Given the description of an element on the screen output the (x, y) to click on. 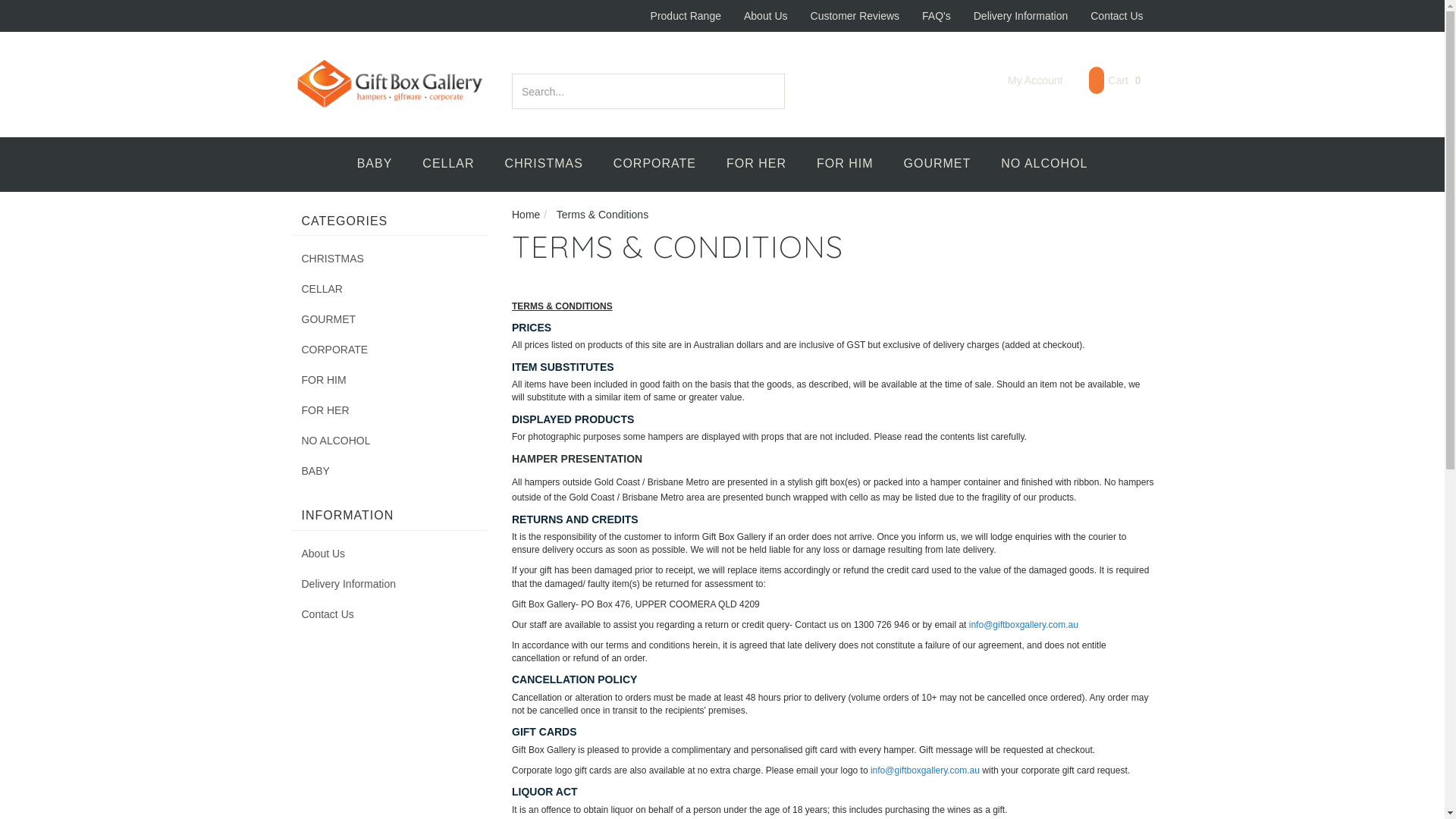
Product Range Element type: text (685, 15)
About Us Element type: text (765, 15)
My Account Element type: text (1023, 80)
GOURMET Element type: text (389, 319)
FOR HER Element type: text (756, 164)
Contact Us Element type: text (389, 614)
Search Element type: text (774, 91)
Gift Box Gallery Element type: hover (389, 83)
Contact Us Element type: text (1116, 15)
GOURMET Element type: text (937, 164)
Delivery Information Element type: text (389, 583)
info@giftboxgallery.com.au Element type: text (924, 770)
CORPORATE Element type: text (654, 164)
NO ALCOHOL Element type: text (389, 440)
FOR HIM Element type: text (389, 379)
CHRISTMAS Element type: text (389, 258)
About Us Element type: text (389, 553)
CORPORATE Element type: text (389, 349)
CELLAR Element type: text (389, 288)
BABY Element type: text (389, 470)
NO ALCOHOL Element type: text (1043, 164)
Home Element type: text (525, 214)
Delivery Information Element type: text (1020, 15)
CHRISTMAS Element type: text (543, 164)
FAQ's Element type: text (936, 15)
FOR HIM Element type: text (844, 164)
Cart 0 Element type: text (1114, 80)
FOR HER Element type: text (389, 410)
info@giftboxgallery.com.au Element type: text (1023, 624)
BABY Element type: text (374, 164)
Terms & Conditions Element type: text (602, 214)
Customer Reviews Element type: text (854, 15)
CELLAR Element type: text (448, 164)
